Given the description of an element on the screen output the (x, y) to click on. 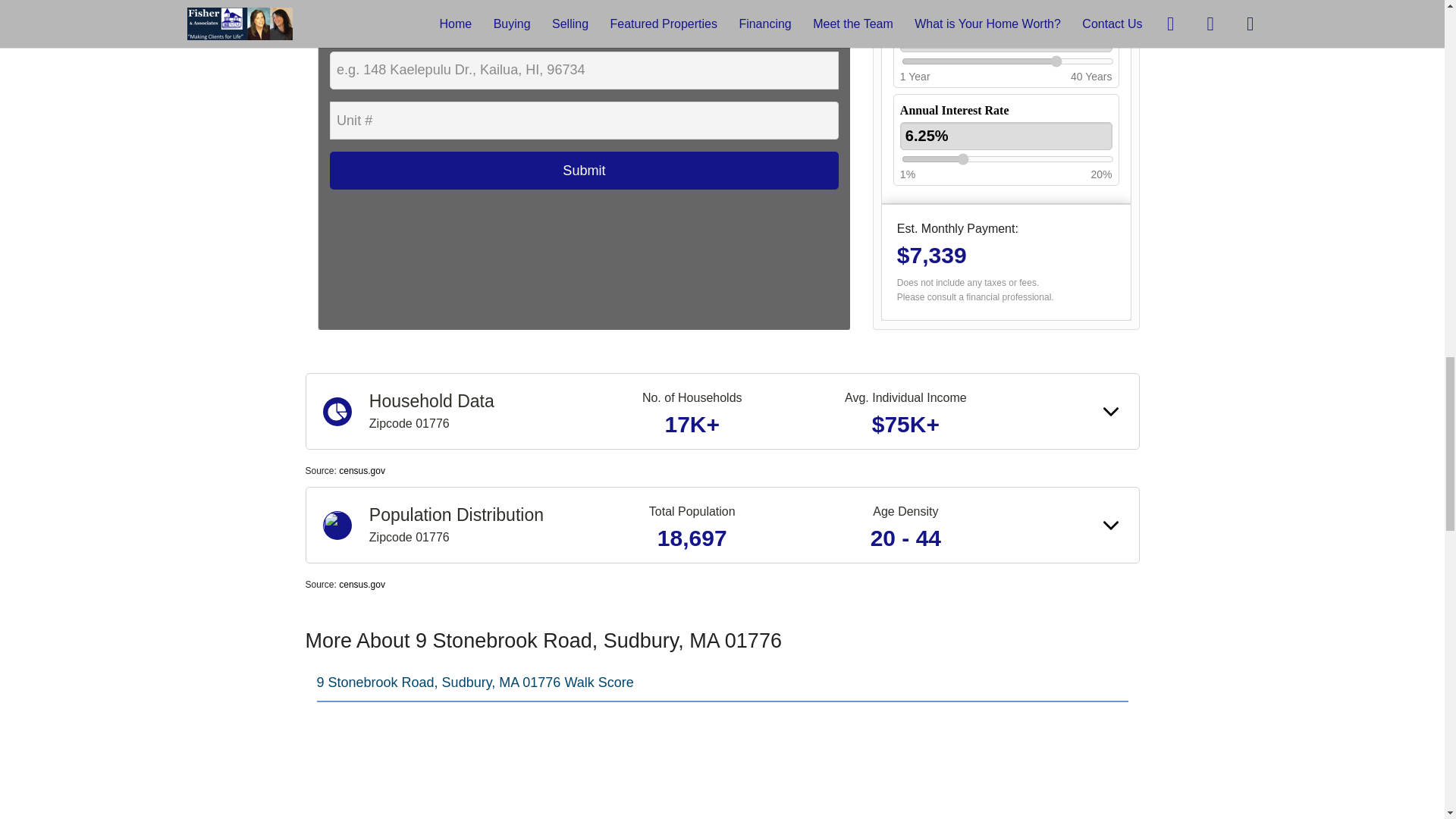
30 Years (1005, 38)
30 (1007, 61)
6.25 (1007, 159)
